Given the description of an element on the screen output the (x, y) to click on. 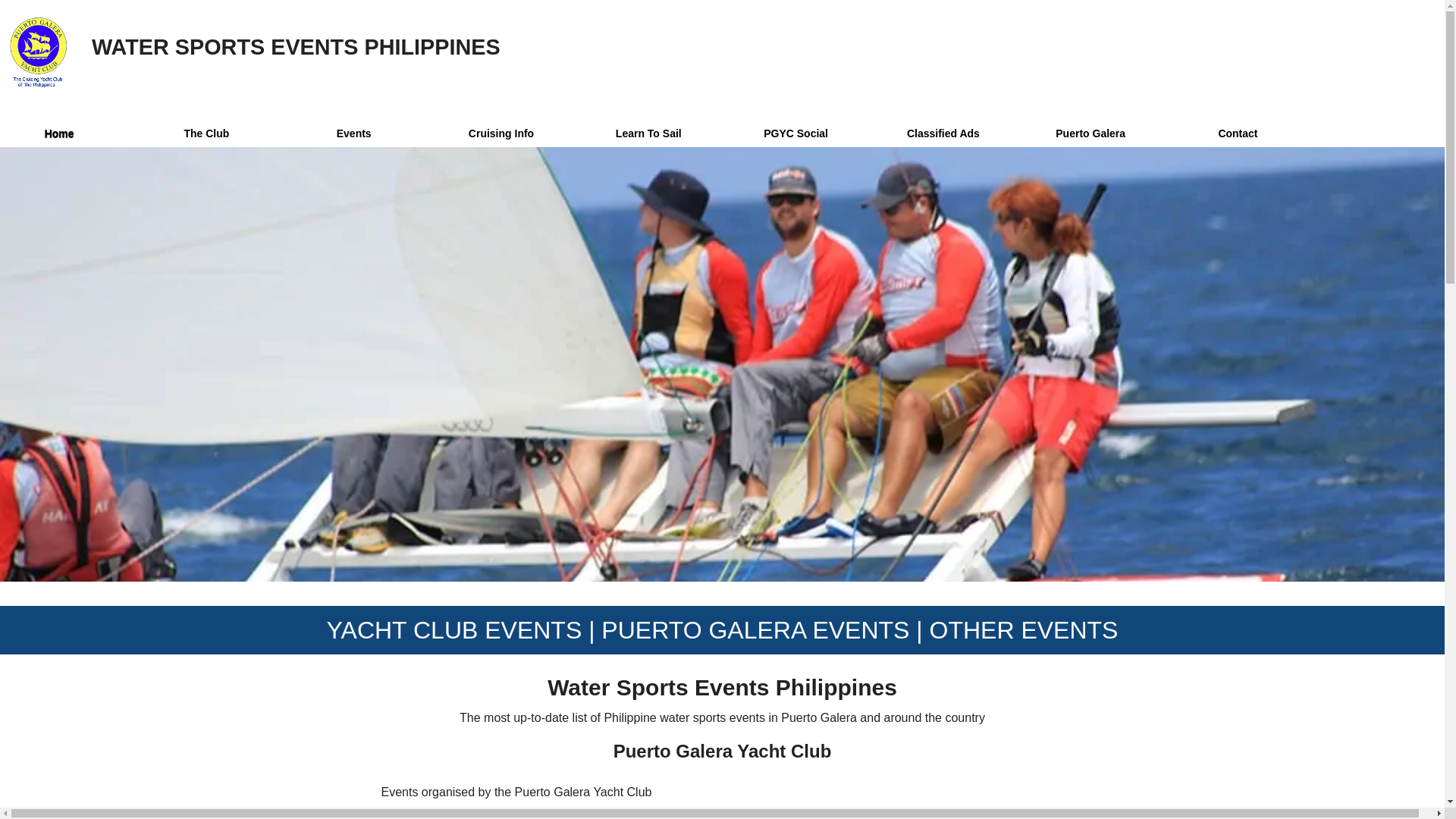
PGYC Social (795, 133)
Classified Ads (942, 133)
Events (354, 133)
Puerto Galera (1089, 133)
Cruising Info (501, 133)
Learn To Sail (648, 133)
The Club (205, 133)
Home (66, 133)
